Given the description of an element on the screen output the (x, y) to click on. 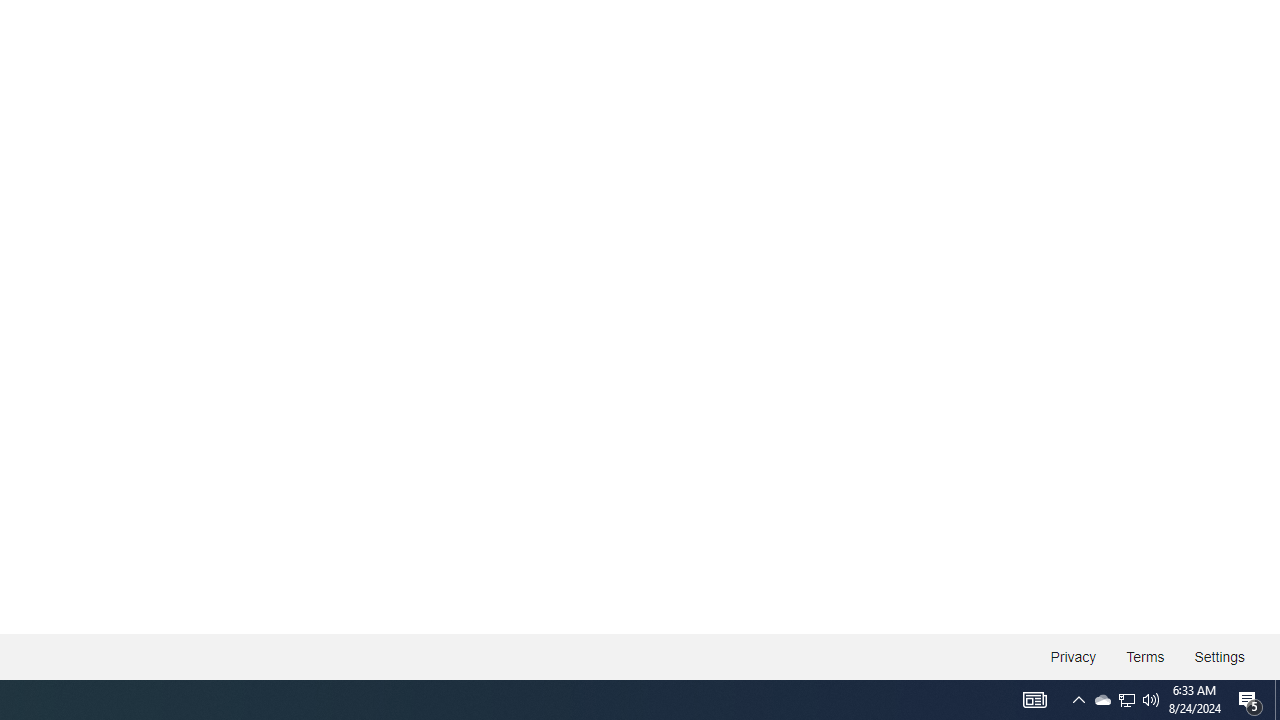
Settings (1218, 656)
